Given the description of an element on the screen output the (x, y) to click on. 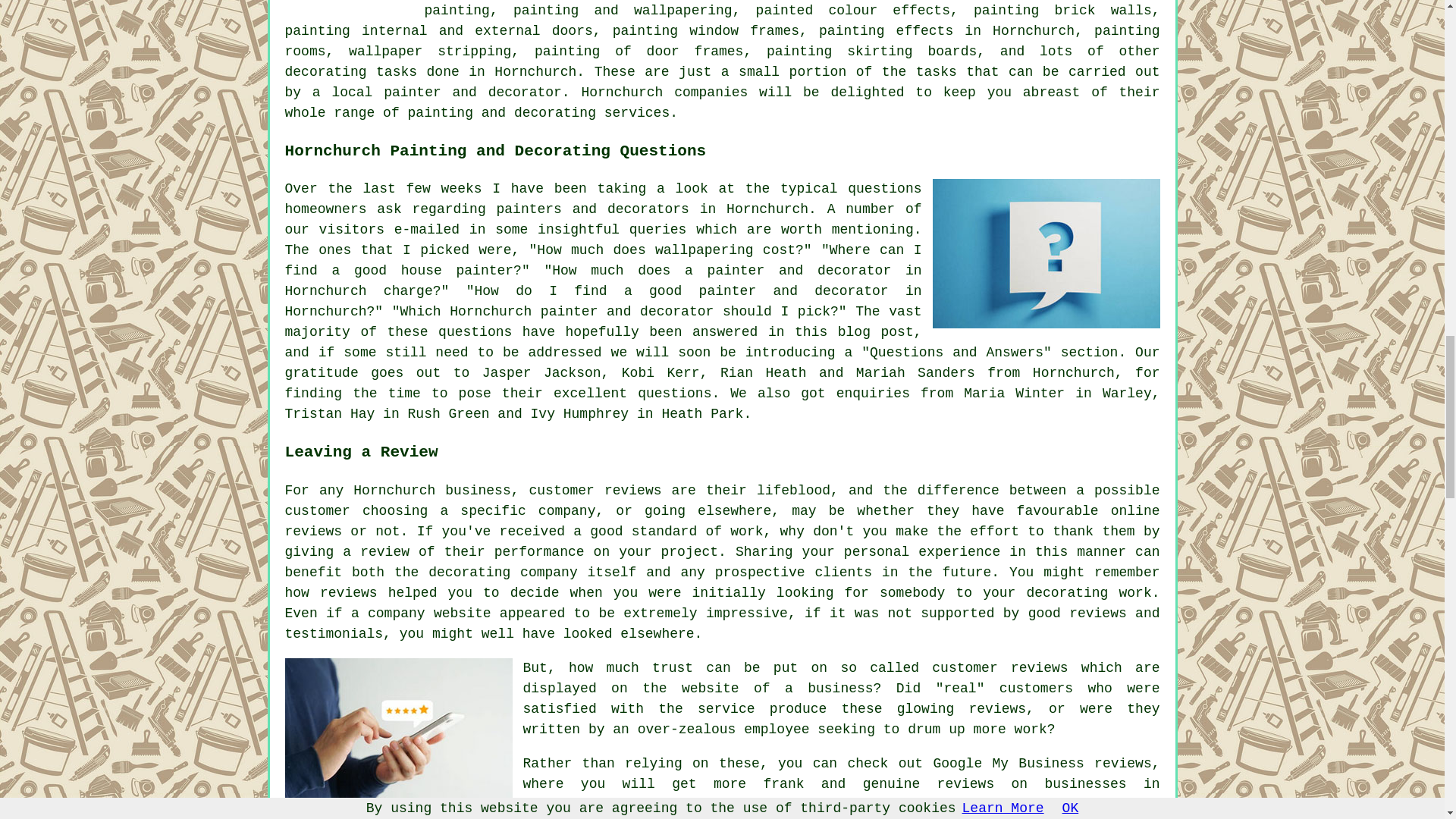
Hornchurch Painter and Decorator Questions (1046, 253)
Leaving a Review (398, 732)
a local painter and decorator (437, 92)
decorating (325, 70)
Painting and Decorating Tasks Hornchurch (349, 2)
